Given the description of an element on the screen output the (x, y) to click on. 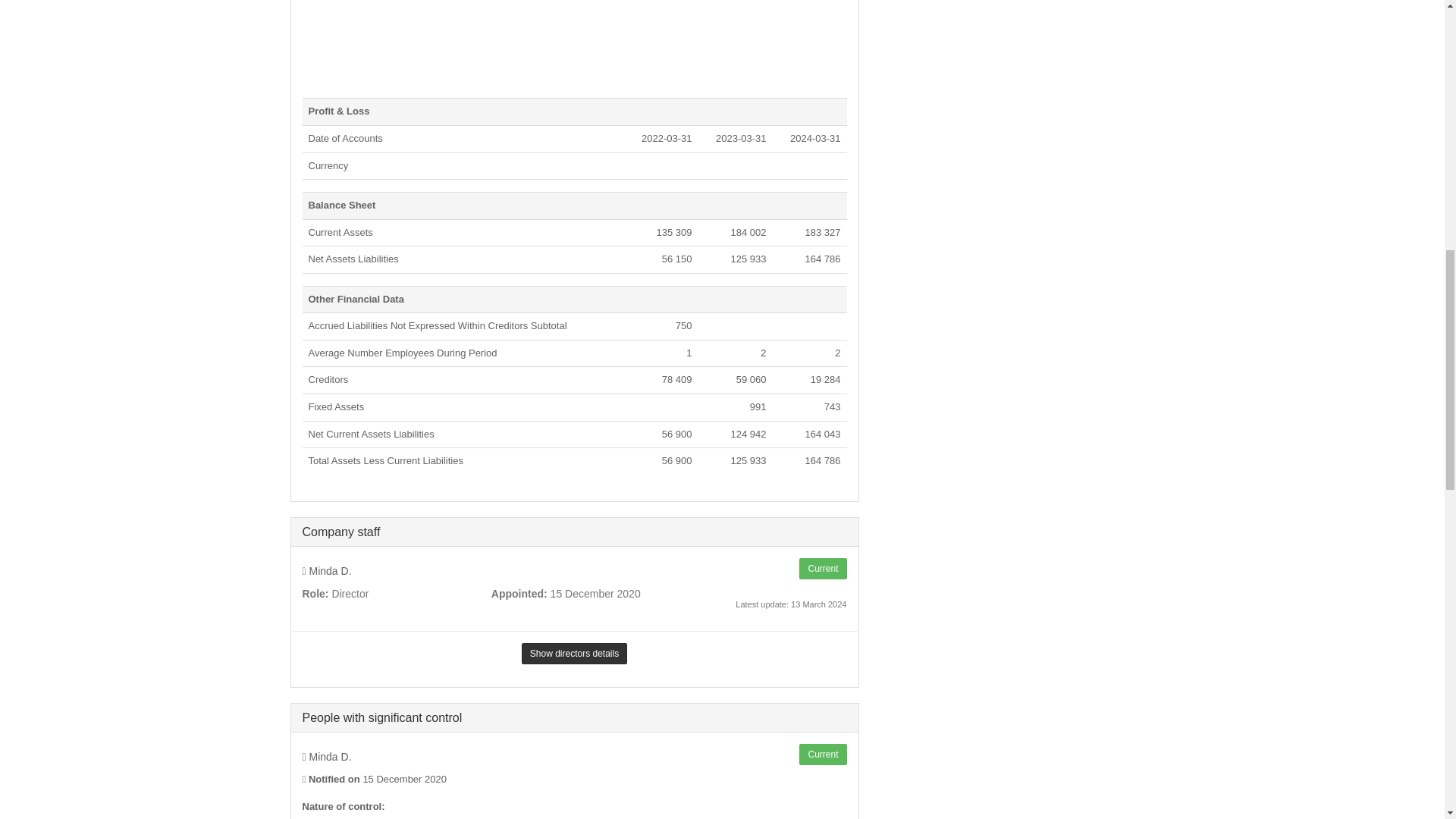
AccruedLiabilitiesNotExpressedWithinCreditorsSubtotal (436, 325)
NetAssetsLiabilities (352, 258)
Show directors details (574, 653)
AverageNumberEmployeesDuringPeriod (401, 352)
Assets to be used or sold within a year (339, 232)
Total assets less current liabilities (385, 460)
Current (822, 568)
Creditors (327, 378)
Current (822, 753)
